Given the description of an element on the screen output the (x, y) to click on. 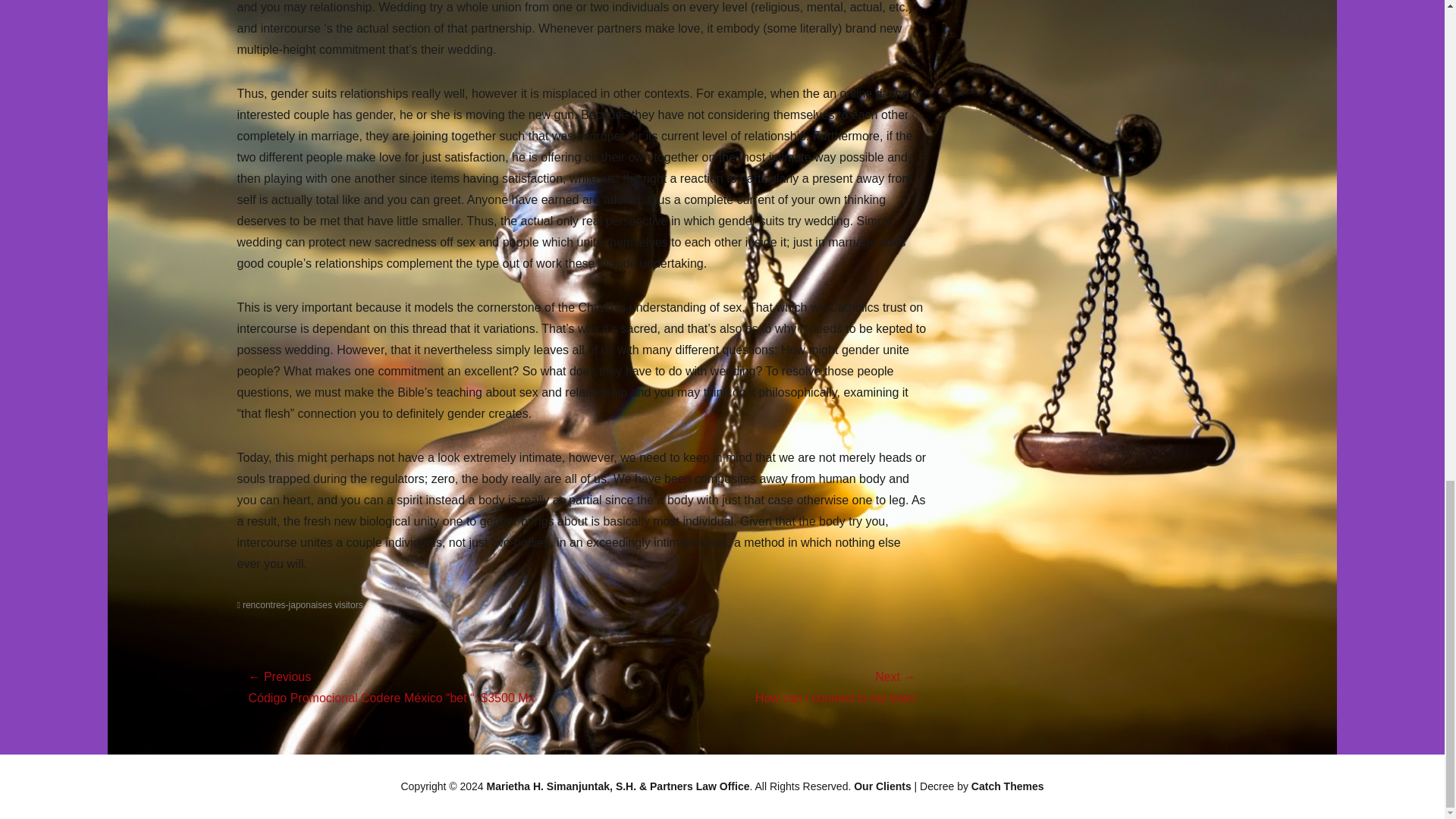
Catch Themes (1007, 786)
Our Clients (882, 786)
rencontres-japonaises visitors (298, 604)
